Given the description of an element on the screen output the (x, y) to click on. 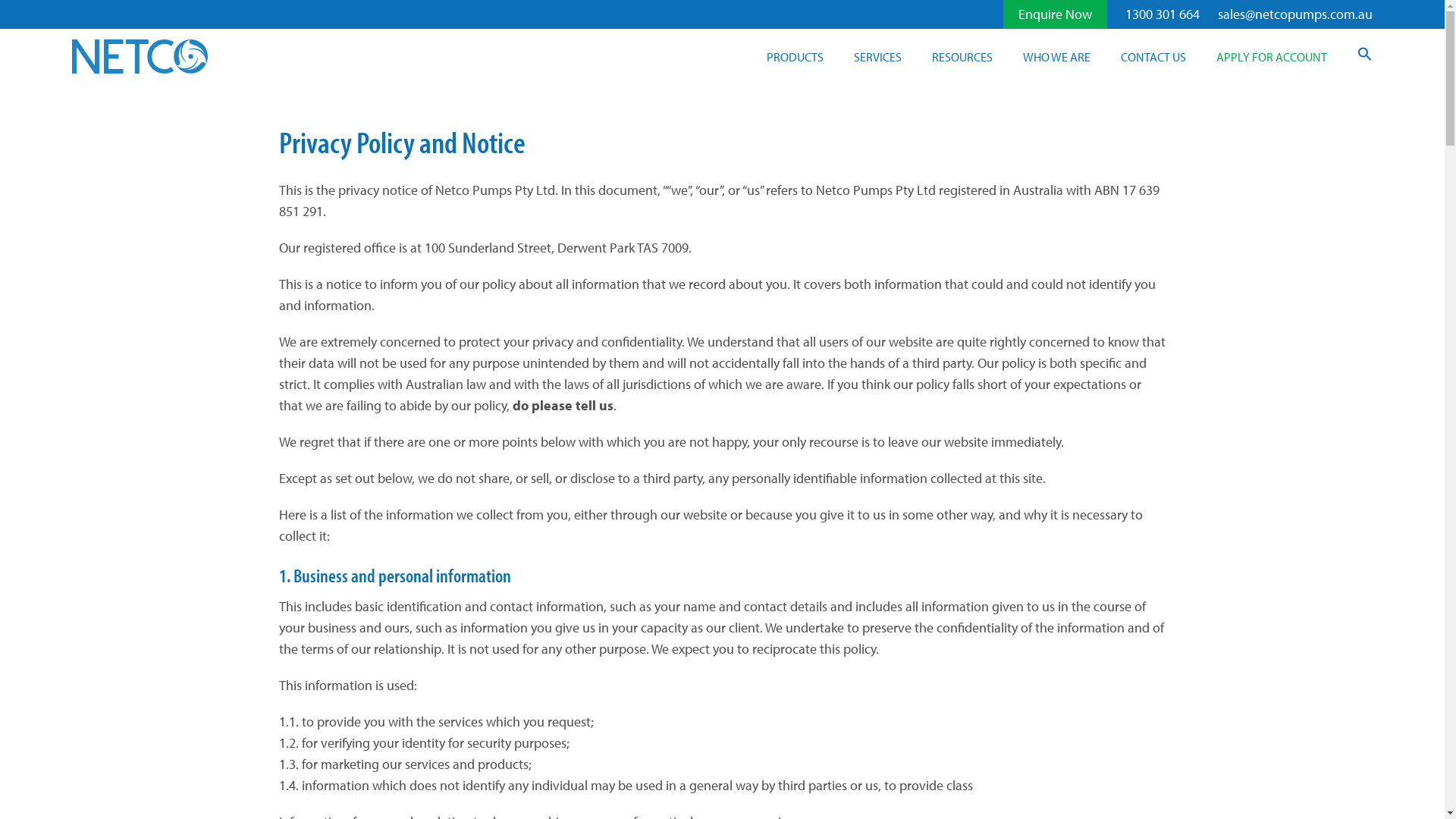
CONTACT US Element type: text (1153, 56)
PRODUCTS Element type: text (794, 56)
sales@netcopumps.com.au Element type: text (1294, 13)
SERVICES Element type: text (877, 56)
1300 301 664 Element type: text (1162, 13)
WHO WE ARE Element type: text (1056, 56)
RESOURCES Element type: text (961, 56)
Enquire Now Element type: text (1055, 13)
APPLY FOR ACCOUNT Element type: text (1271, 56)
